Given the description of an element on the screen output the (x, y) to click on. 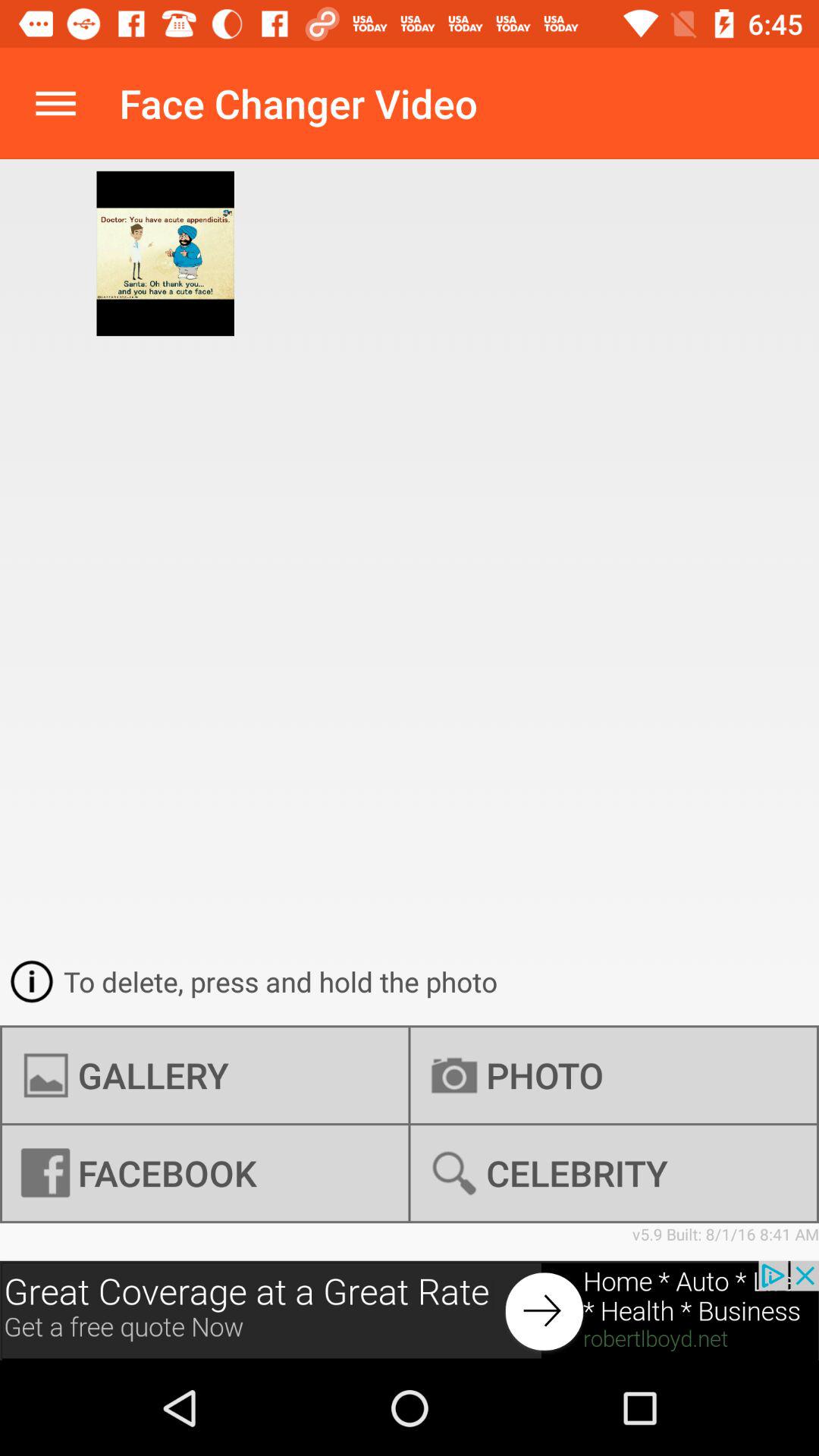
turn off item below gallery icon (613, 1173)
